Given the description of an element on the screen output the (x, y) to click on. 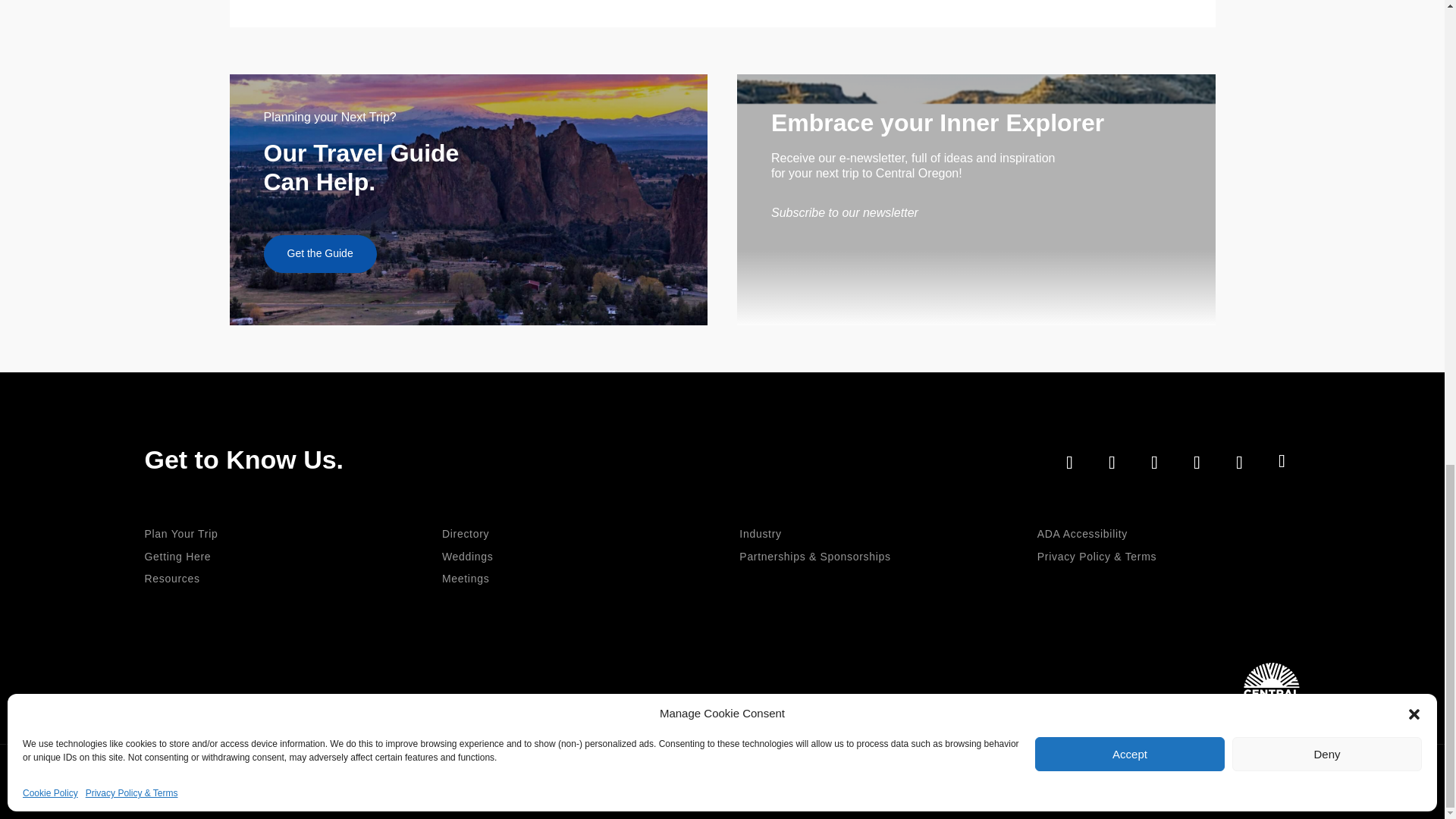
Follow on Pinterest (1281, 461)
Follow on Facebook (1069, 462)
Follow on LinkedIn (1195, 462)
Follow on X (1153, 462)
Follow on Youtube (1239, 462)
Follow on Instagram (1111, 462)
VCO-Logo-white (1271, 684)
